Given the description of an element on the screen output the (x, y) to click on. 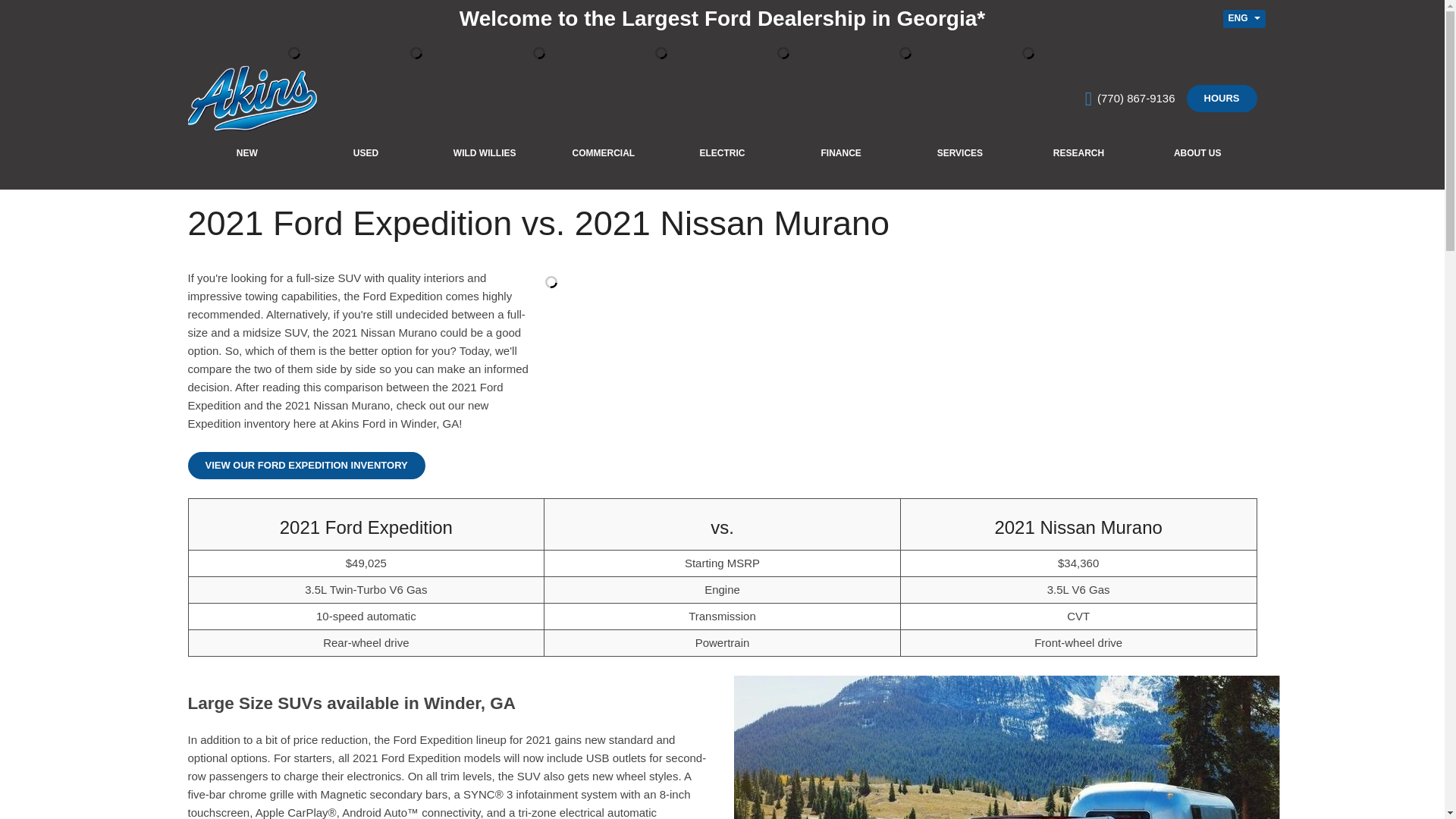
Akins Ford (252, 98)
NEW (247, 153)
HOURS (1221, 99)
